Given the description of an element on the screen output the (x, y) to click on. 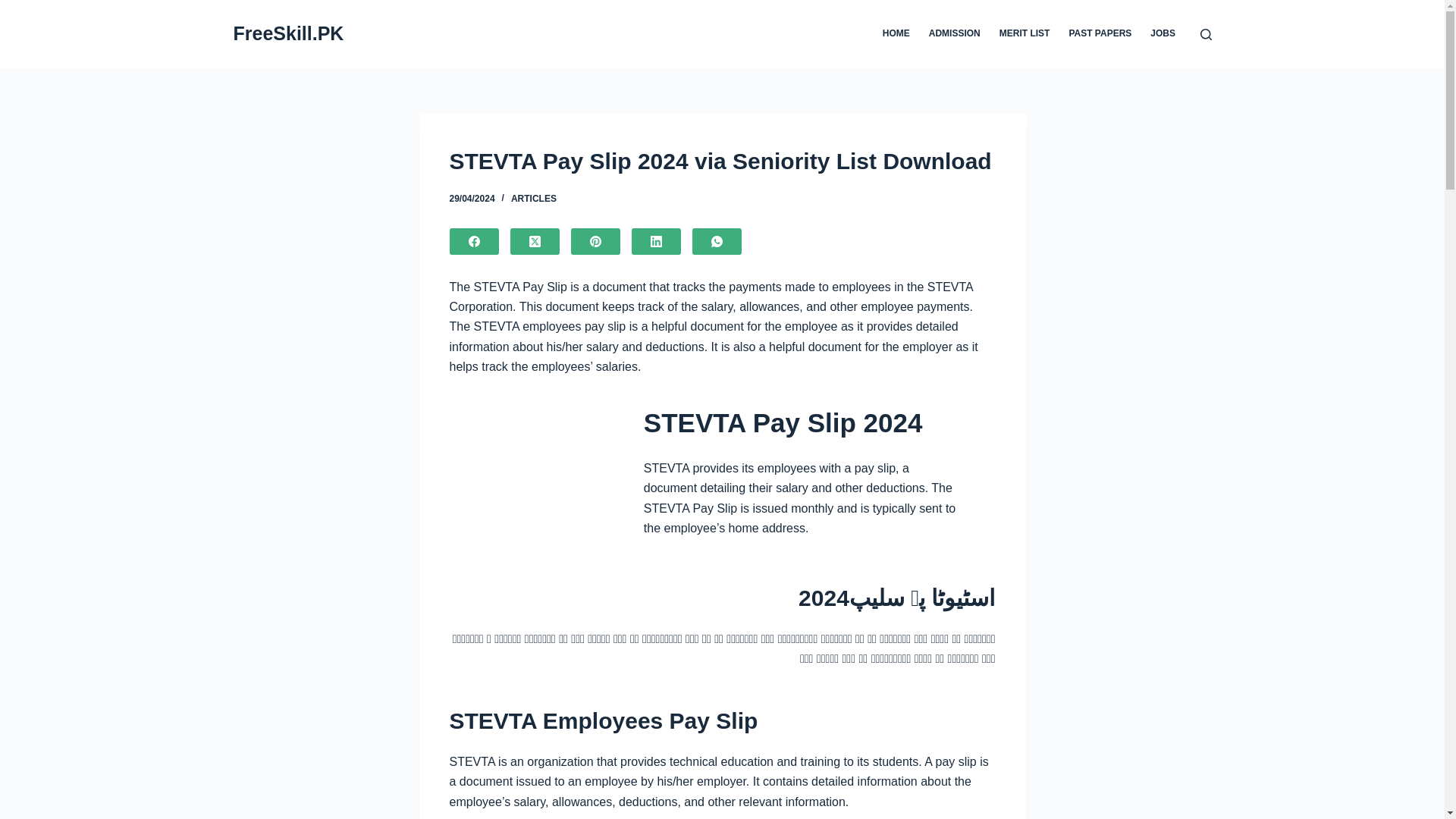
ADMISSION (954, 33)
PAST PAPERS (1100, 33)
FreeSkill.PK (287, 33)
STEVTA Pay Slip 2024 via Seniority List Download (721, 161)
MERIT LIST (1024, 33)
ARTICLES (533, 198)
Skip to content (15, 7)
